Given the description of an element on the screen output the (x, y) to click on. 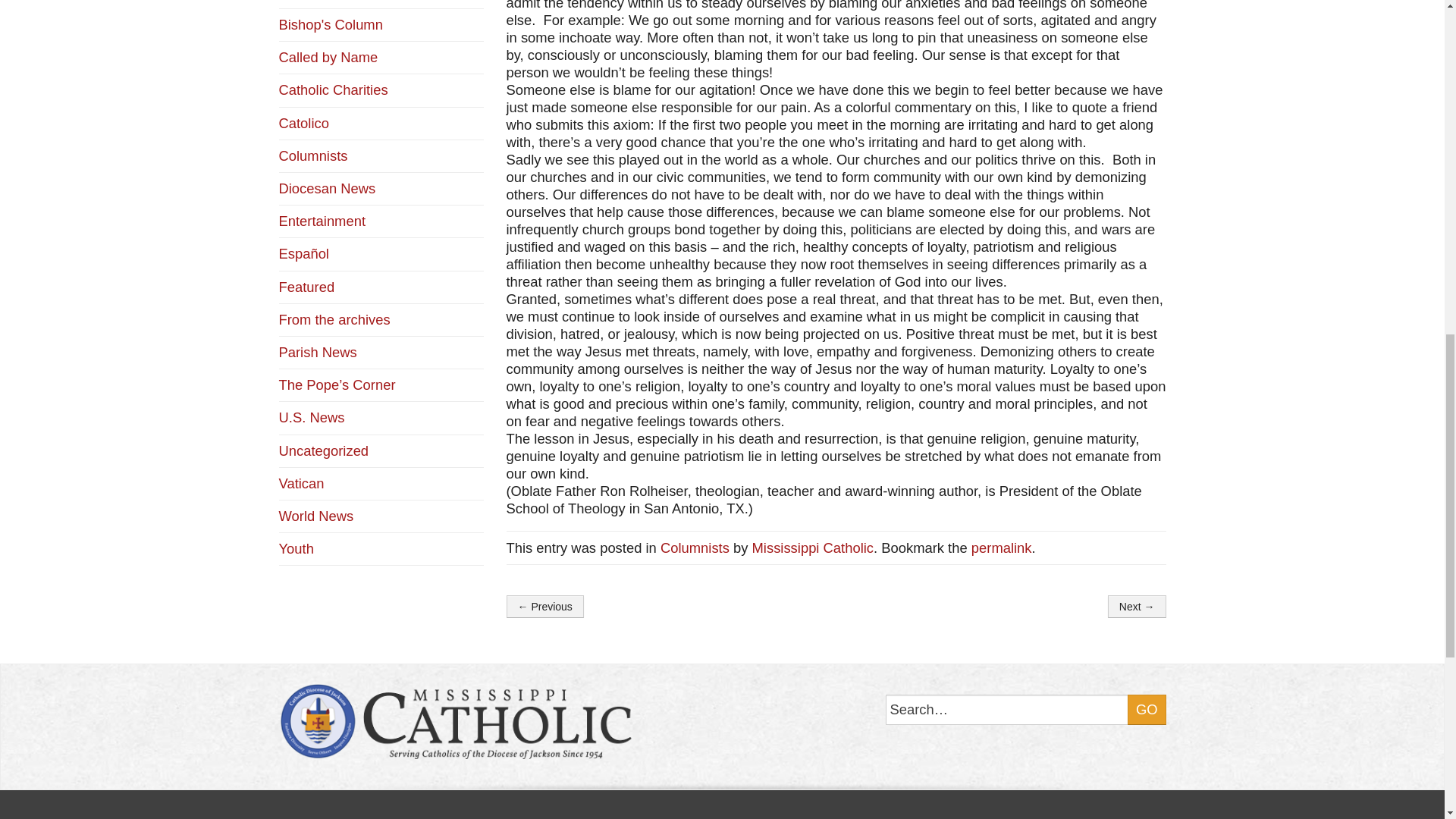
Bishop's Column (330, 24)
Diocesan News (327, 188)
Permalink to Build communities with love, not exclusion (1001, 547)
Mississippi Catholic (812, 547)
Catolico (304, 123)
GO (1146, 709)
Columnists (695, 547)
Catholic Charities (333, 89)
Called by Name (328, 57)
Search (1025, 709)
permalink (1001, 547)
Columnists (313, 155)
